Given the description of an element on the screen output the (x, y) to click on. 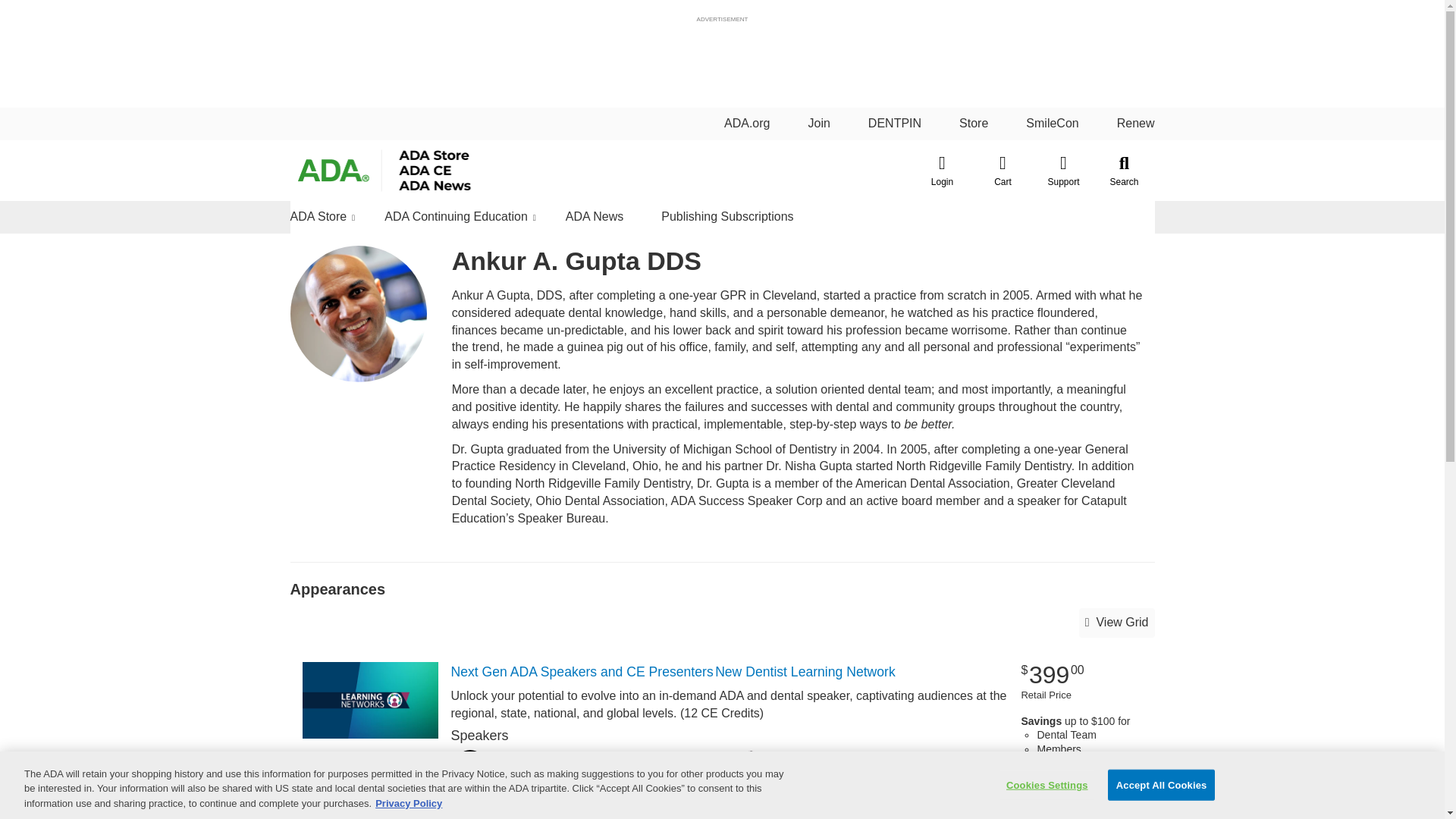
Elijah Desmond (534, 803)
Renew (1135, 123)
Speaker Image for Jasmin Haley (751, 804)
ADA News (594, 216)
DENTPIN (894, 123)
Add To Cart (1080, 780)
Store (973, 123)
Publishing Subscriptions (727, 216)
Login (941, 170)
Login (941, 170)
